Given the description of an element on the screen output the (x, y) to click on. 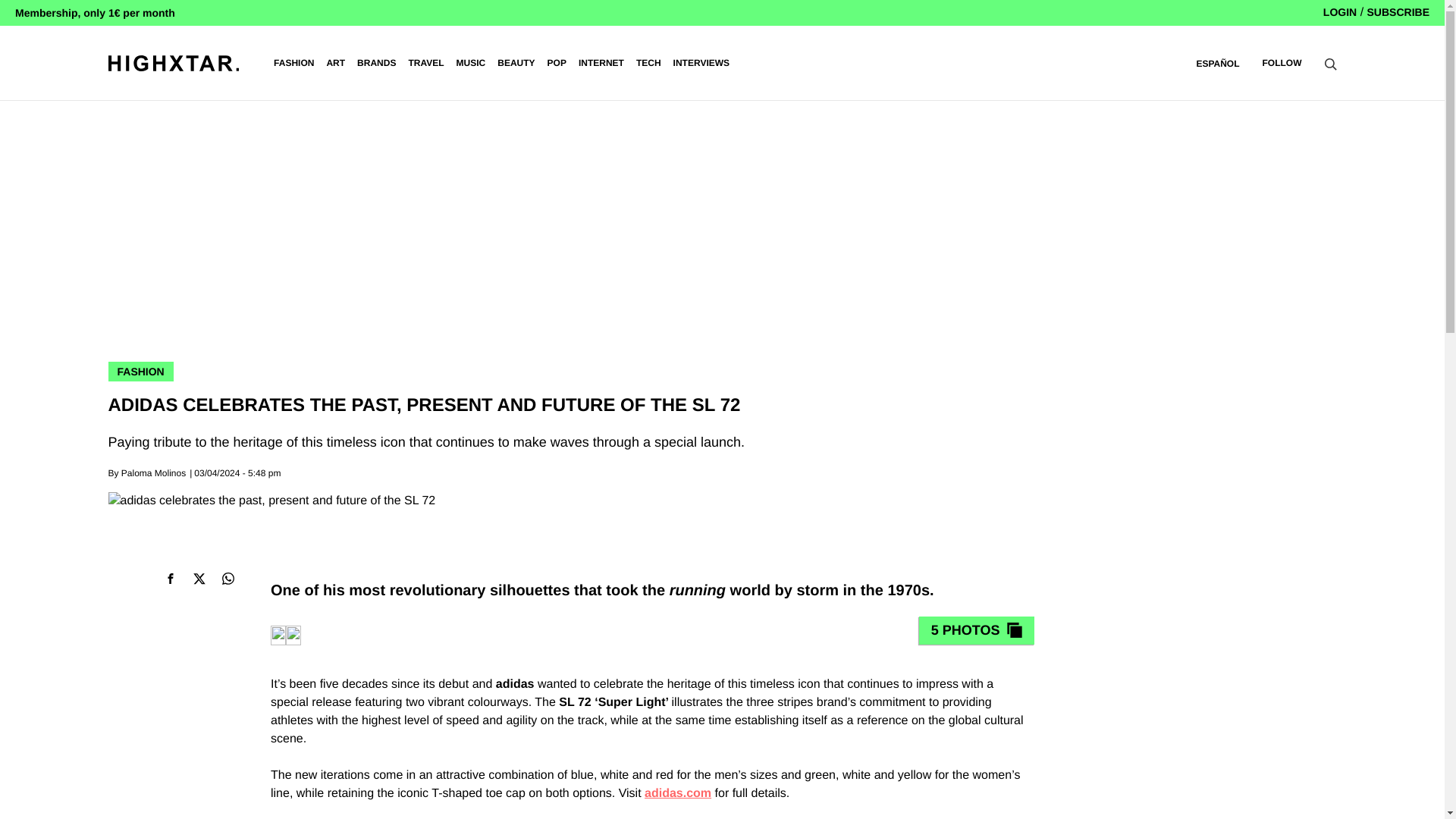
Follow (1281, 62)
SUBSCRIBE (1398, 11)
LOGIN (1339, 11)
INTERVIEWS (700, 62)
FASHION (293, 62)
Highxtar (172, 62)
FOLLOW (1281, 62)
INTERNET (601, 62)
